Given the description of an element on the screen output the (x, y) to click on. 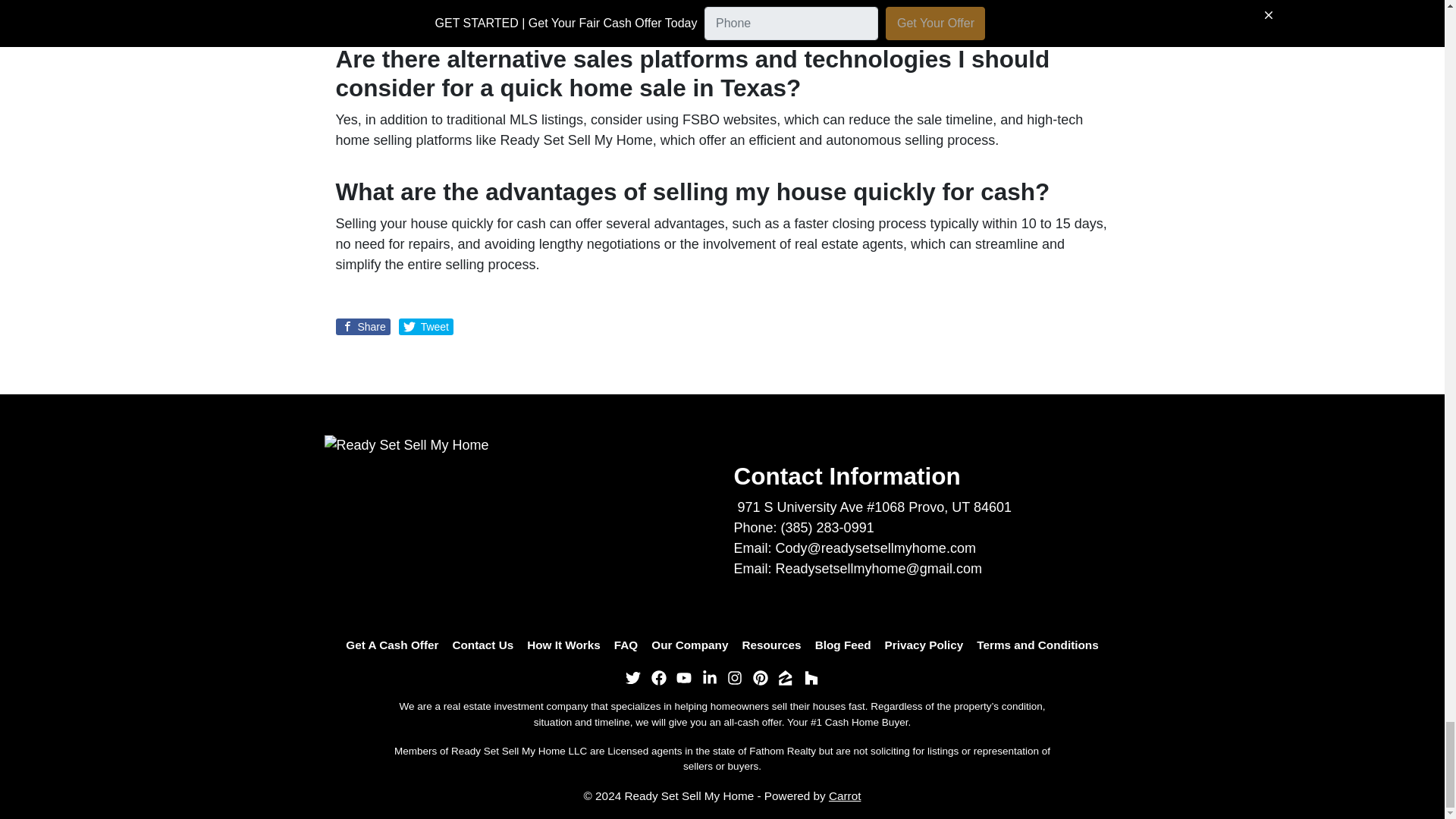
How It Works (563, 644)
Tweet (425, 326)
Share on Twitter (425, 326)
Share (362, 326)
Get A Cash Offer (392, 644)
FAQ (626, 644)
Contact Us (482, 644)
Share on Facebook (362, 326)
